Given the description of an element on the screen output the (x, y) to click on. 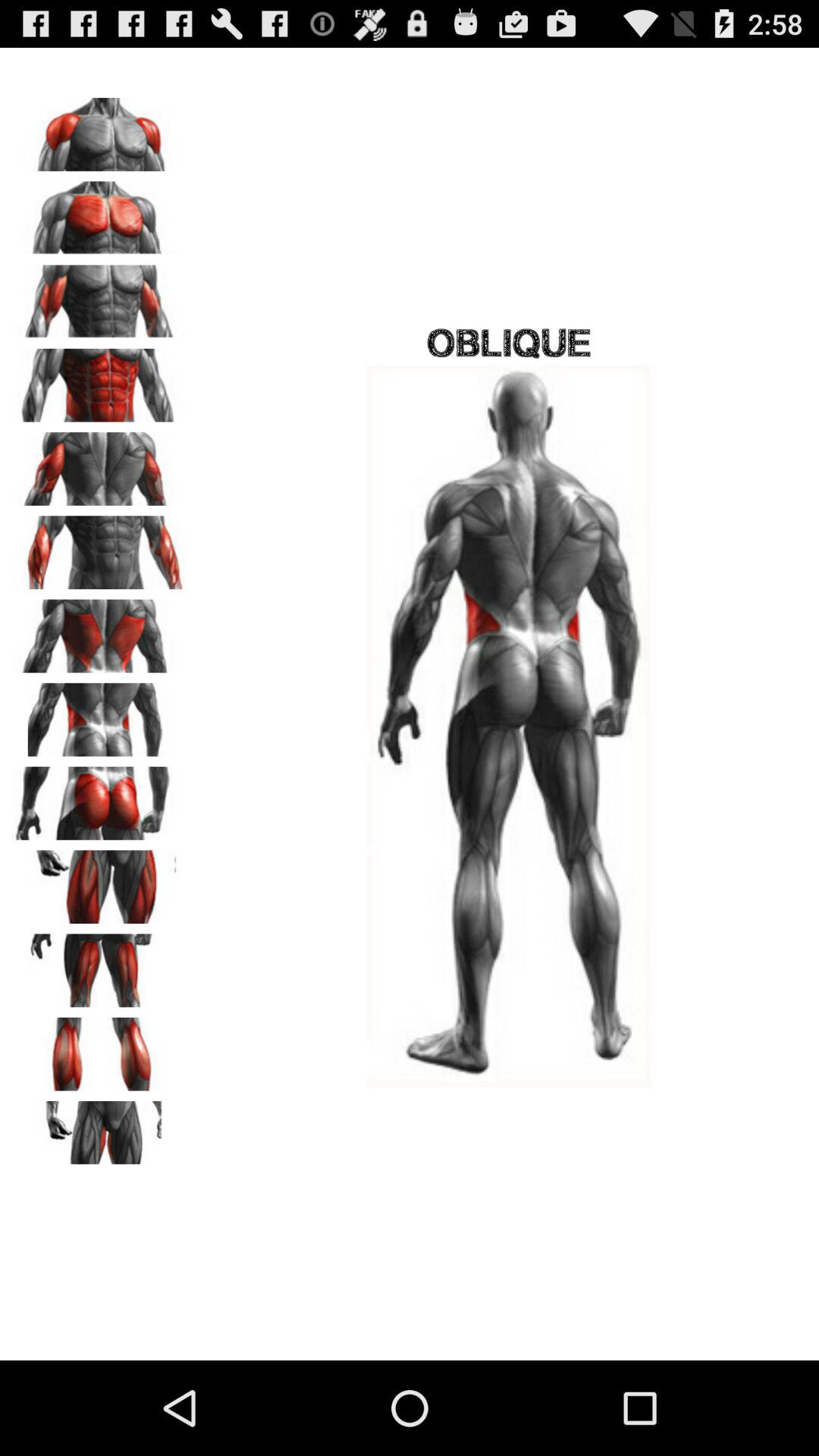
choose chest (99, 296)
